Given the description of an element on the screen output the (x, y) to click on. 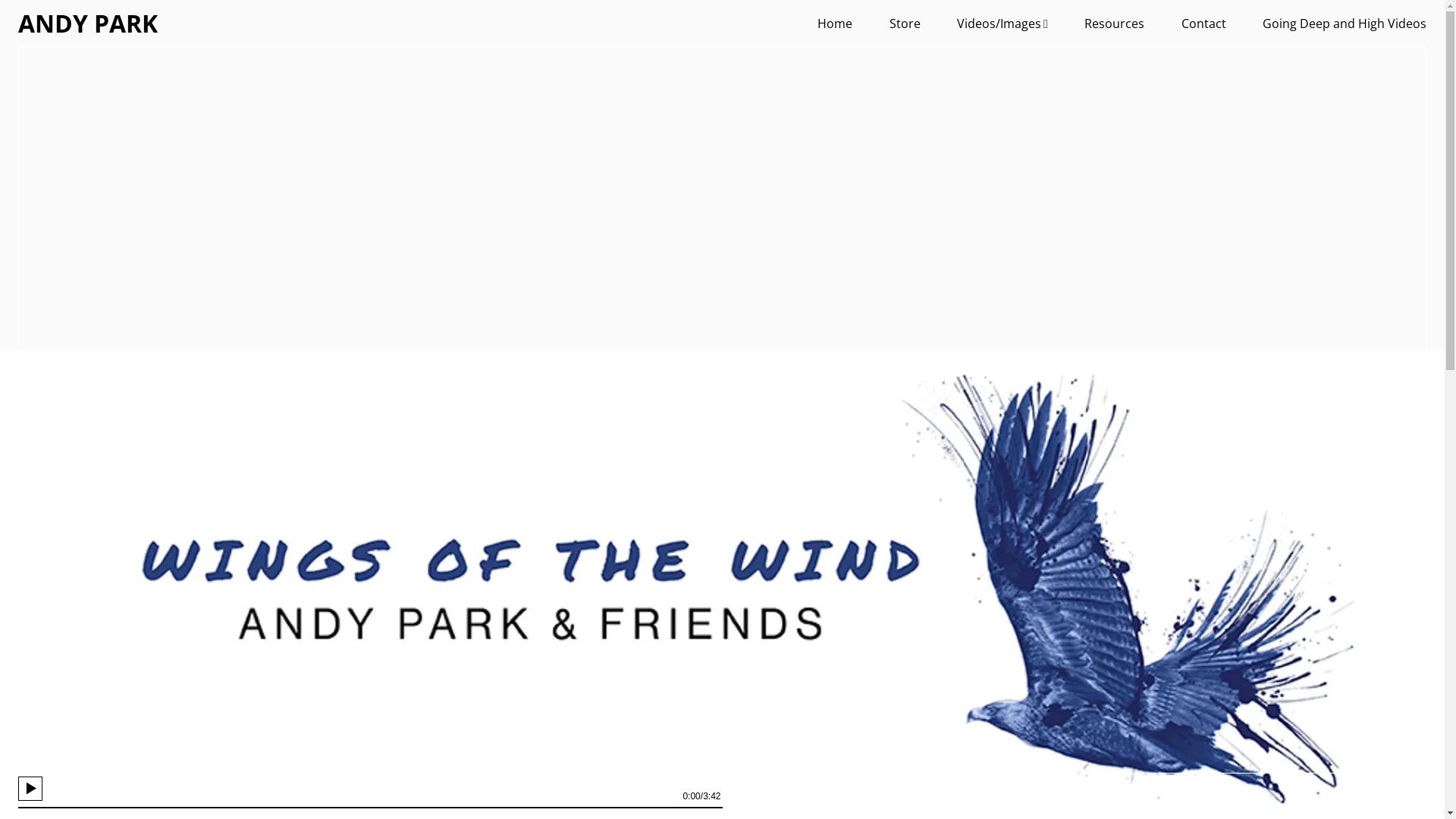
https://www.facebook.com/andyparkmusic Element type: hover (1408, 796)
Resources Element type: text (1114, 23)
Going Deep and High Videos Element type: text (1344, 23)
Videos/Images Element type: text (1002, 23)
ANDY PARK Element type: text (87, 22)
Store Element type: text (904, 23)
Play Element type: hover (30, 788)
Contact Element type: text (1203, 23)
Home Element type: text (834, 23)
